Given the description of an element on the screen output the (x, y) to click on. 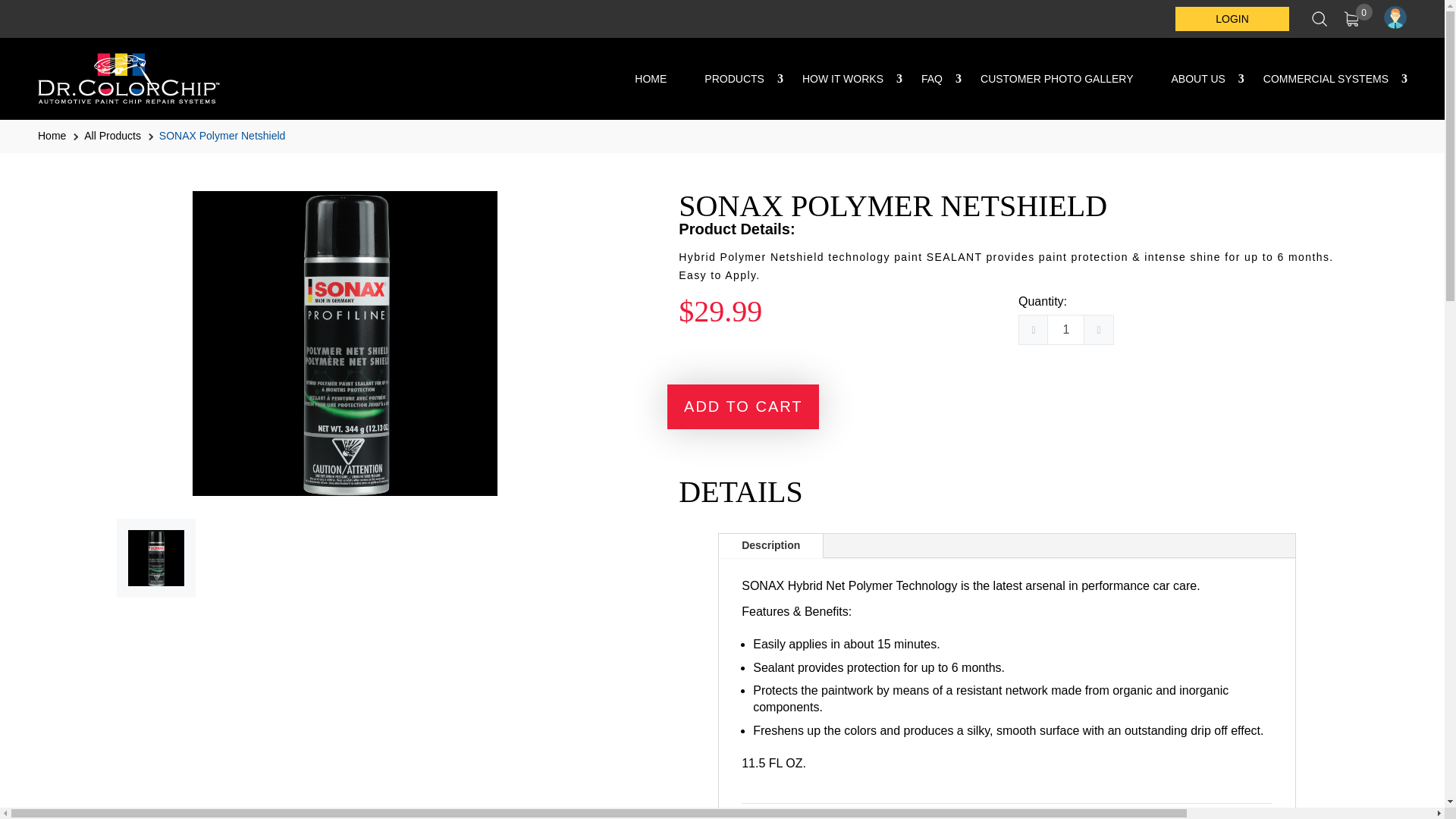
Cart (1353, 18)
ABOUT US (1197, 78)
1 (1065, 329)
Avtar (1395, 16)
PRODUCTS (734, 78)
Cart (1353, 18)
Search (1318, 18)
LOGIN (1231, 18)
COMMERCIAL SYSTEMS (1325, 78)
Search (1318, 18)
